Given the description of an element on the screen output the (x, y) to click on. 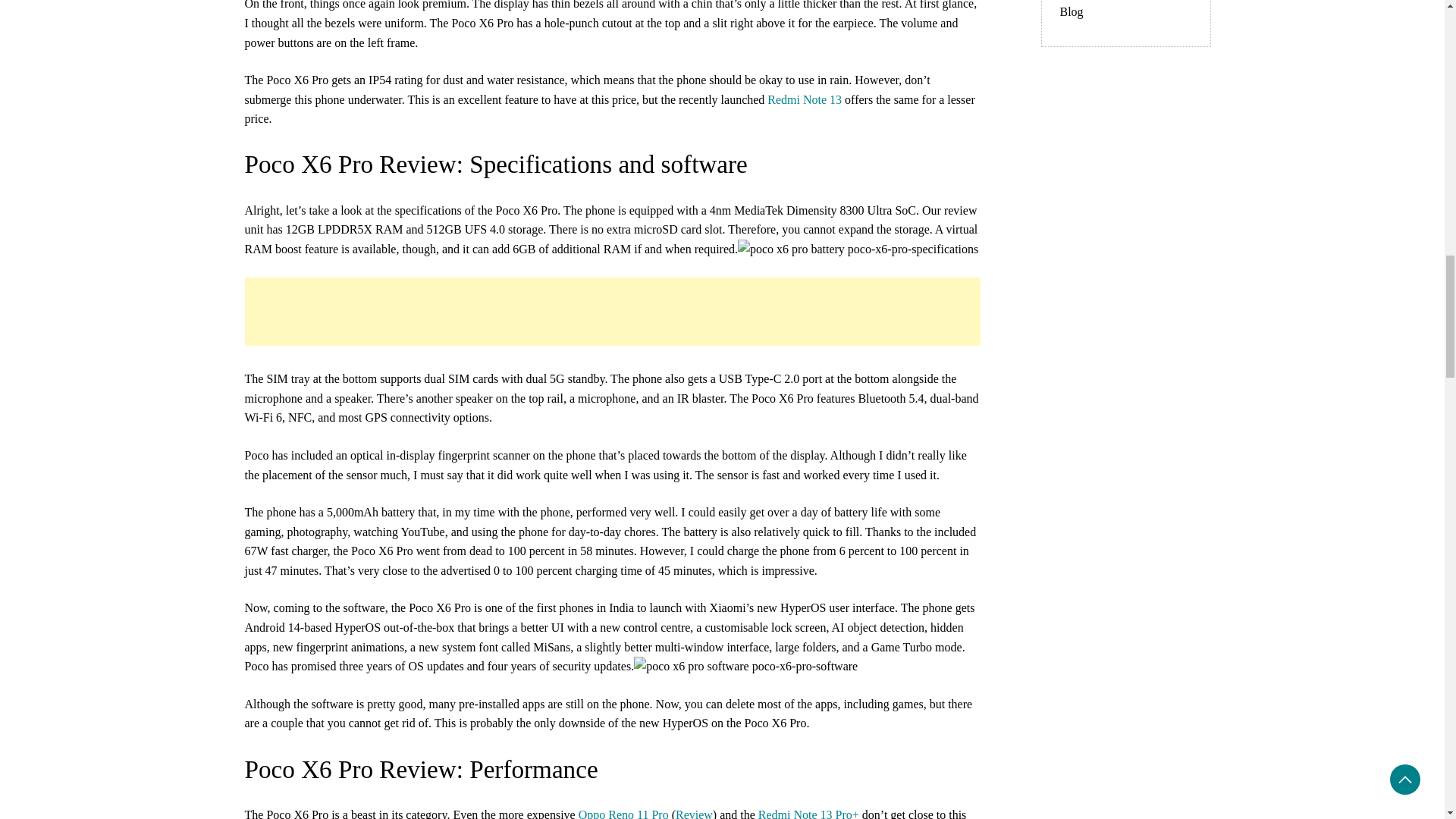
Redmi Note 13 (804, 99)
Oppo Reno 11 Pro (623, 813)
Review (694, 813)
